Given the description of an element on the screen output the (x, y) to click on. 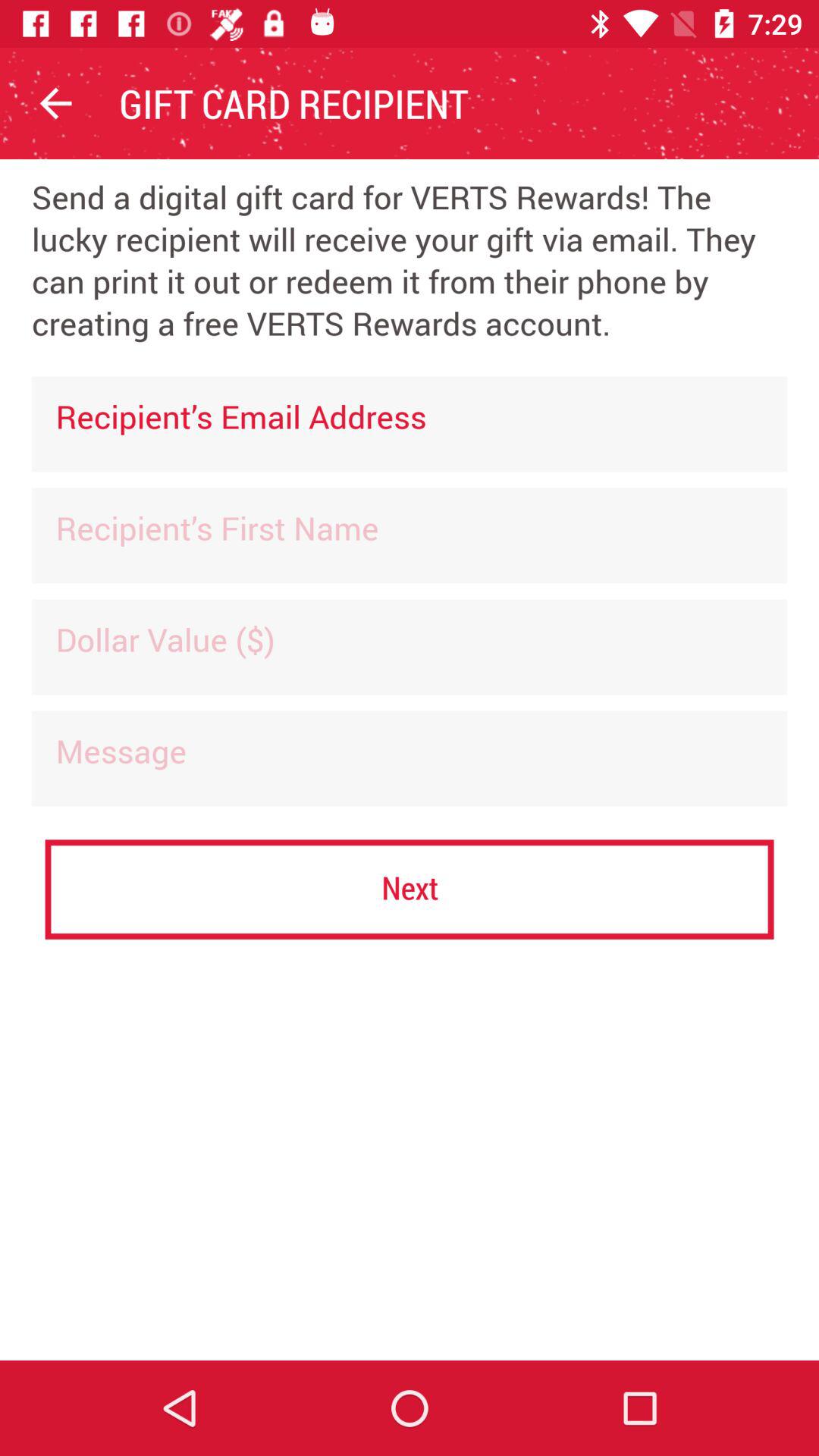
launch the icon above the send a digital item (55, 103)
